Given the description of an element on the screen output the (x, y) to click on. 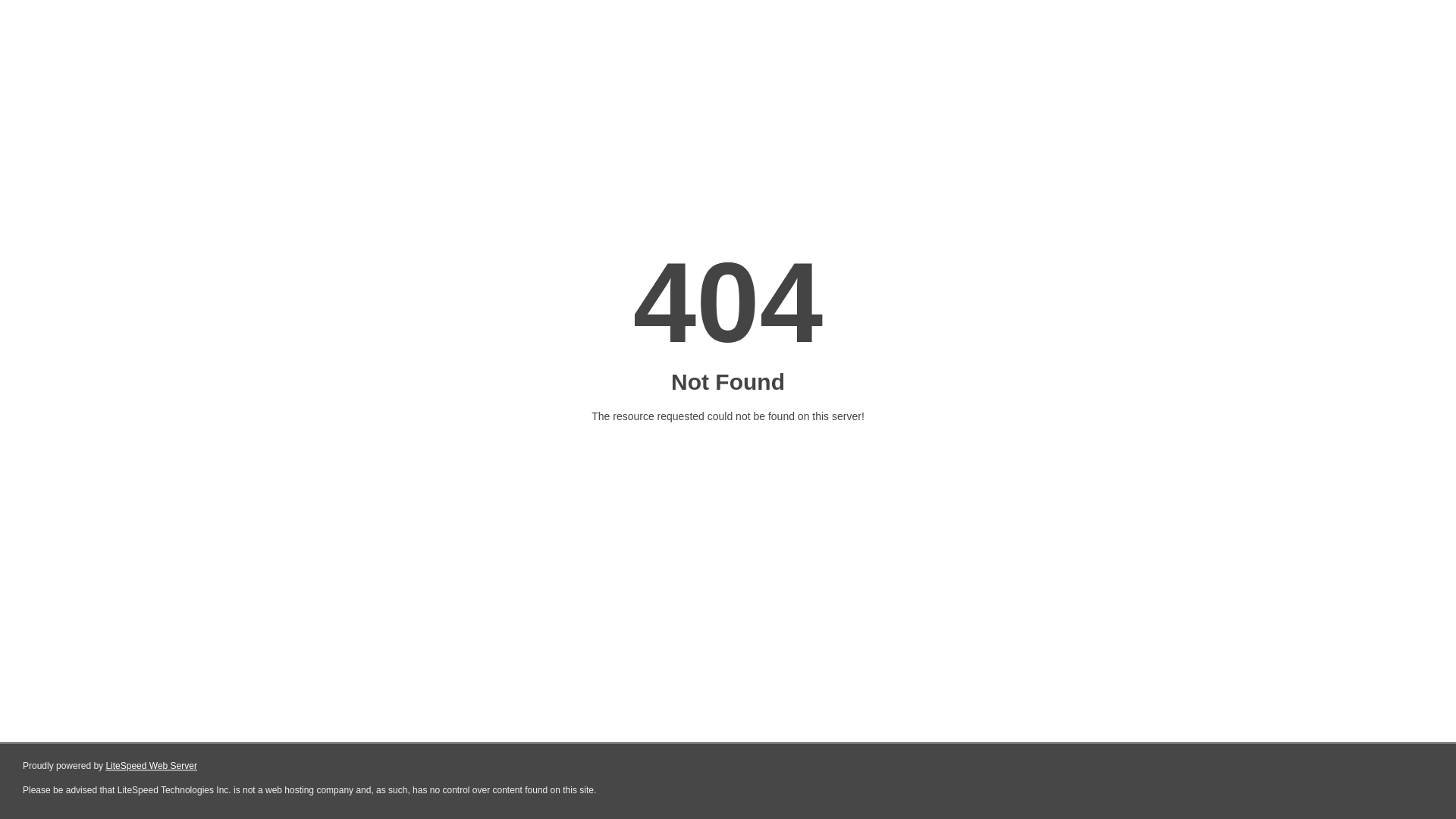
LiteSpeed Web Server Element type: text (151, 765)
